Given the description of an element on the screen output the (x, y) to click on. 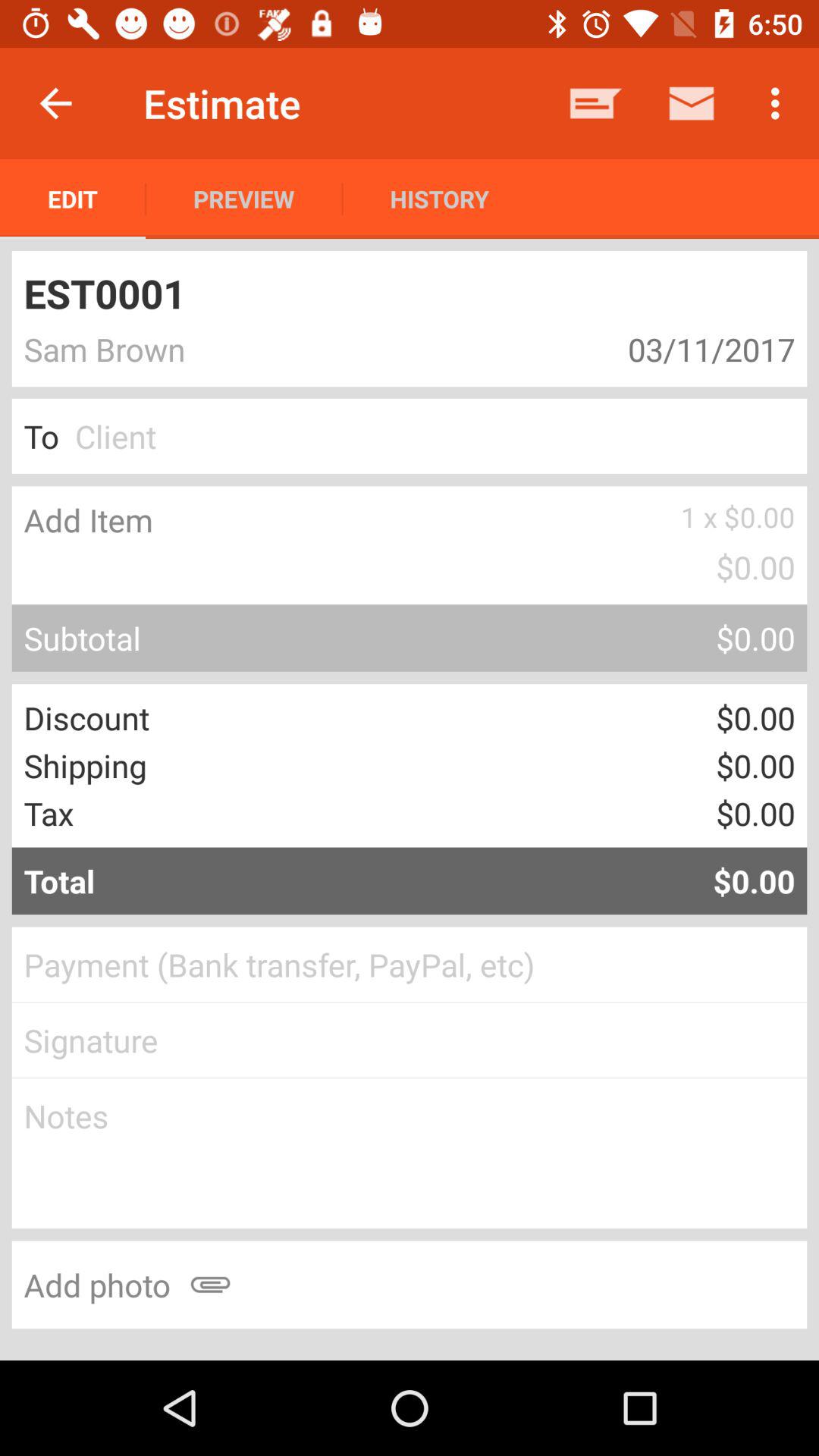
write notes (409, 1153)
